Given the description of an element on the screen output the (x, y) to click on. 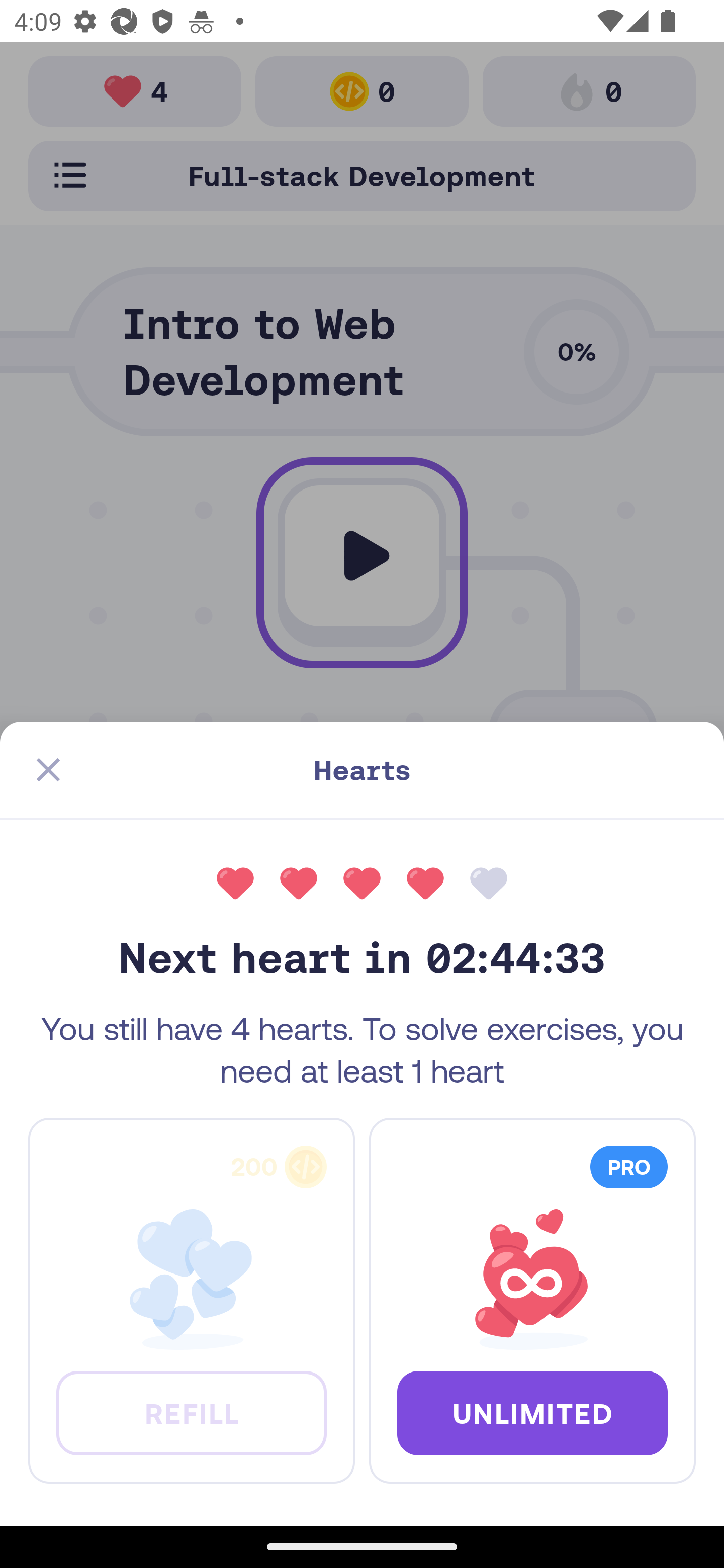
Close (47, 769)
REFILL (191, 1412)
UNLIMITED (532, 1412)
